Given the description of an element on the screen output the (x, y) to click on. 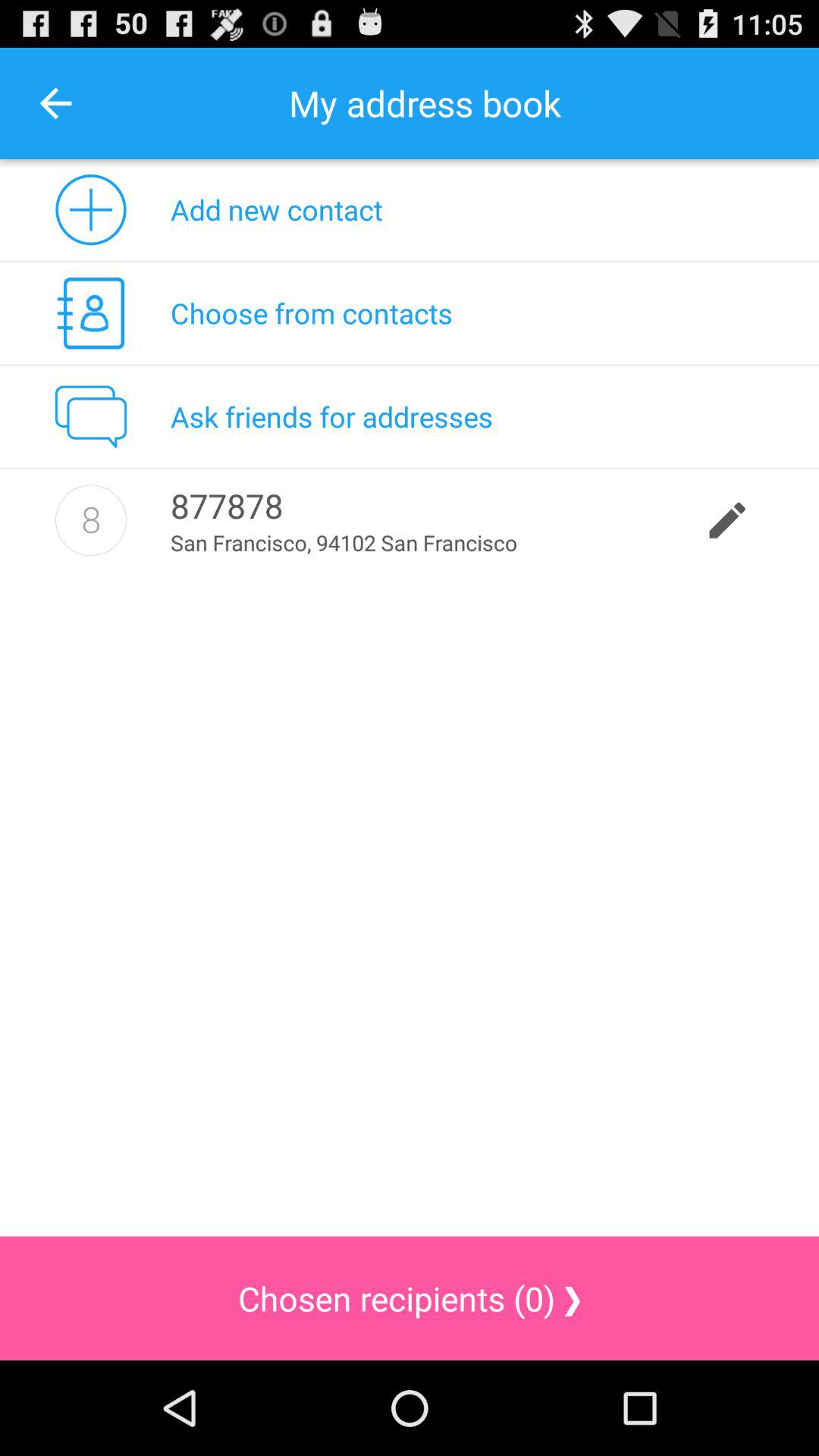
open the item to the left of my address book (55, 103)
